Given the description of an element on the screen output the (x, y) to click on. 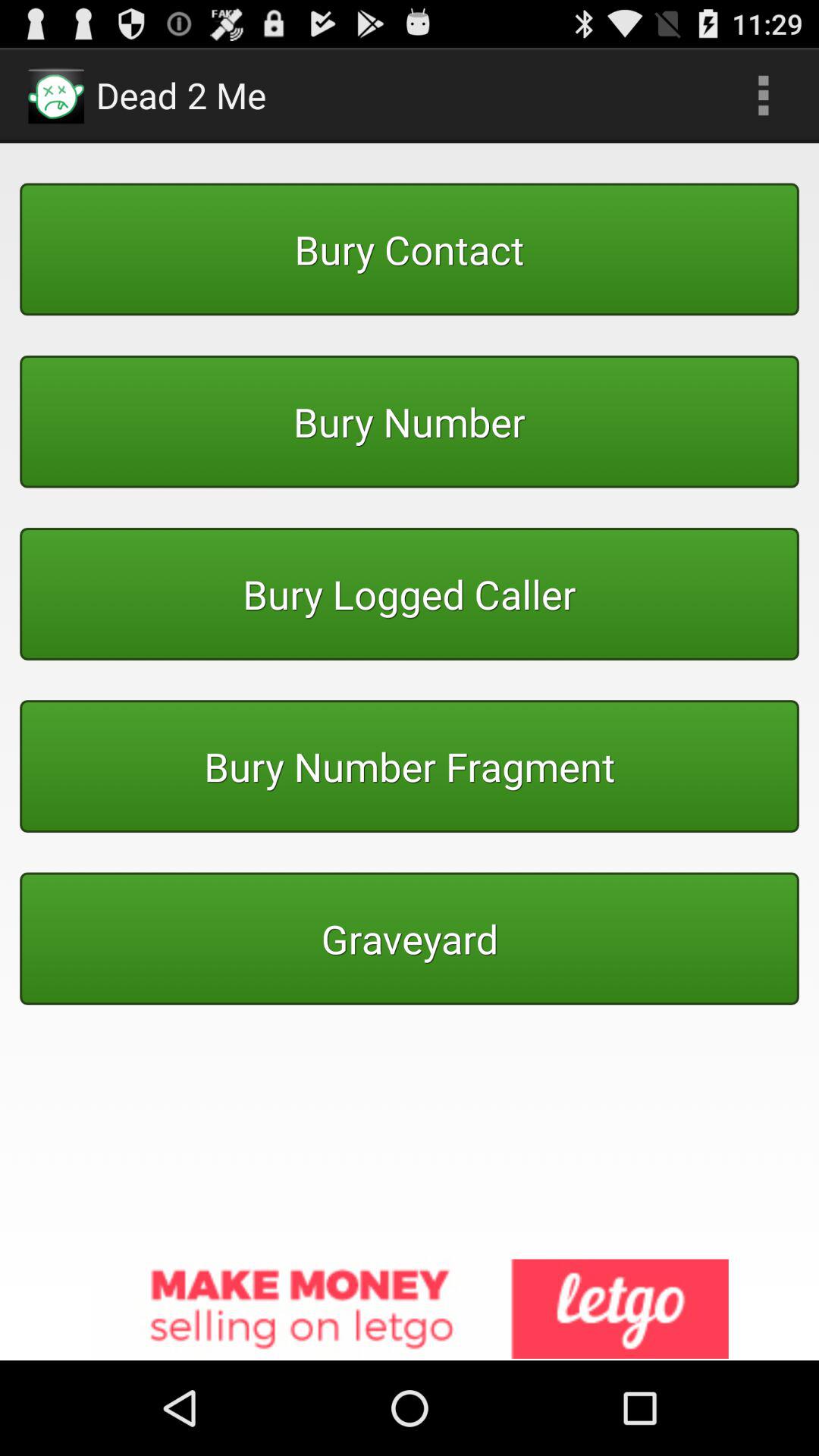
advertisement link (409, 1309)
